Given the description of an element on the screen output the (x, y) to click on. 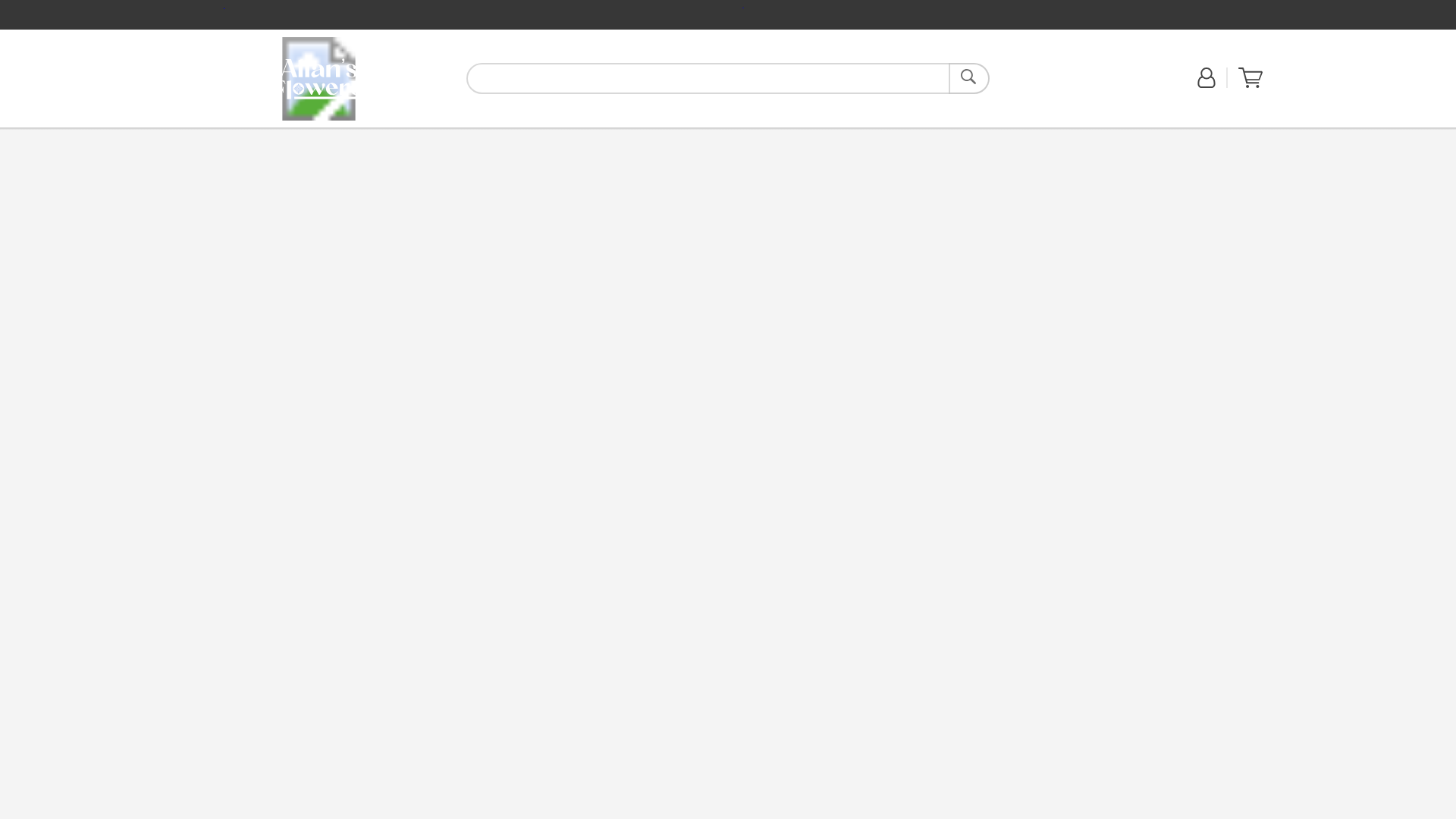
Set ZIP Code (1044, 86)
View Your Shopping Cart (1250, 77)
Sympathy (486, 135)
Search (969, 78)
Birthday (349, 135)
Back to the Home Page (318, 77)
View Your Shopping Cart (1250, 84)
Anniversary (303, 135)
Just Because (435, 135)
Get Well (388, 135)
